Given the description of an element on the screen output the (x, y) to click on. 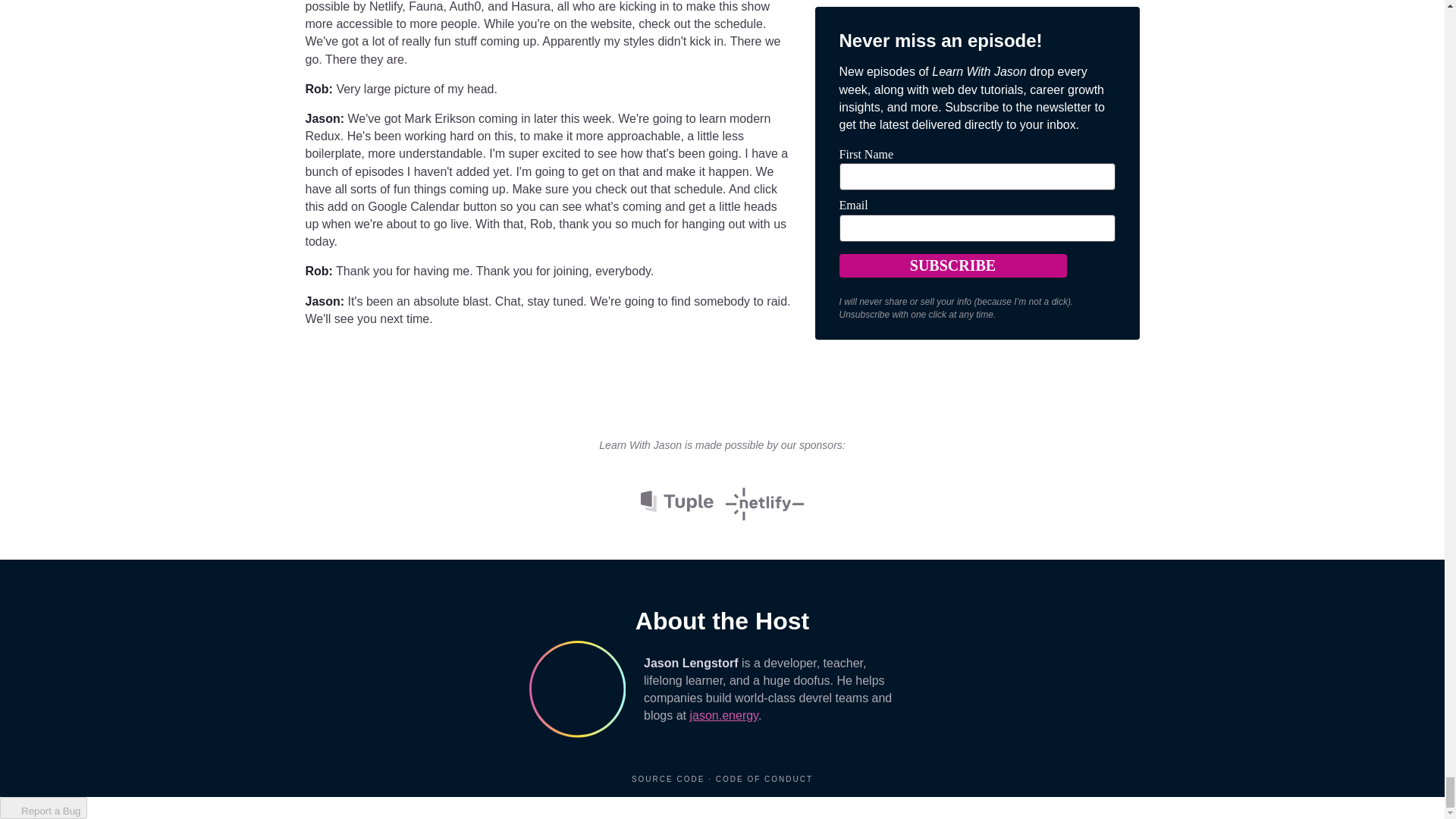
Netlify (764, 500)
SOURCE CODE (669, 778)
jason.energy (722, 715)
CODE OF CONDUCT (764, 778)
